Given the description of an element on the screen output the (x, y) to click on. 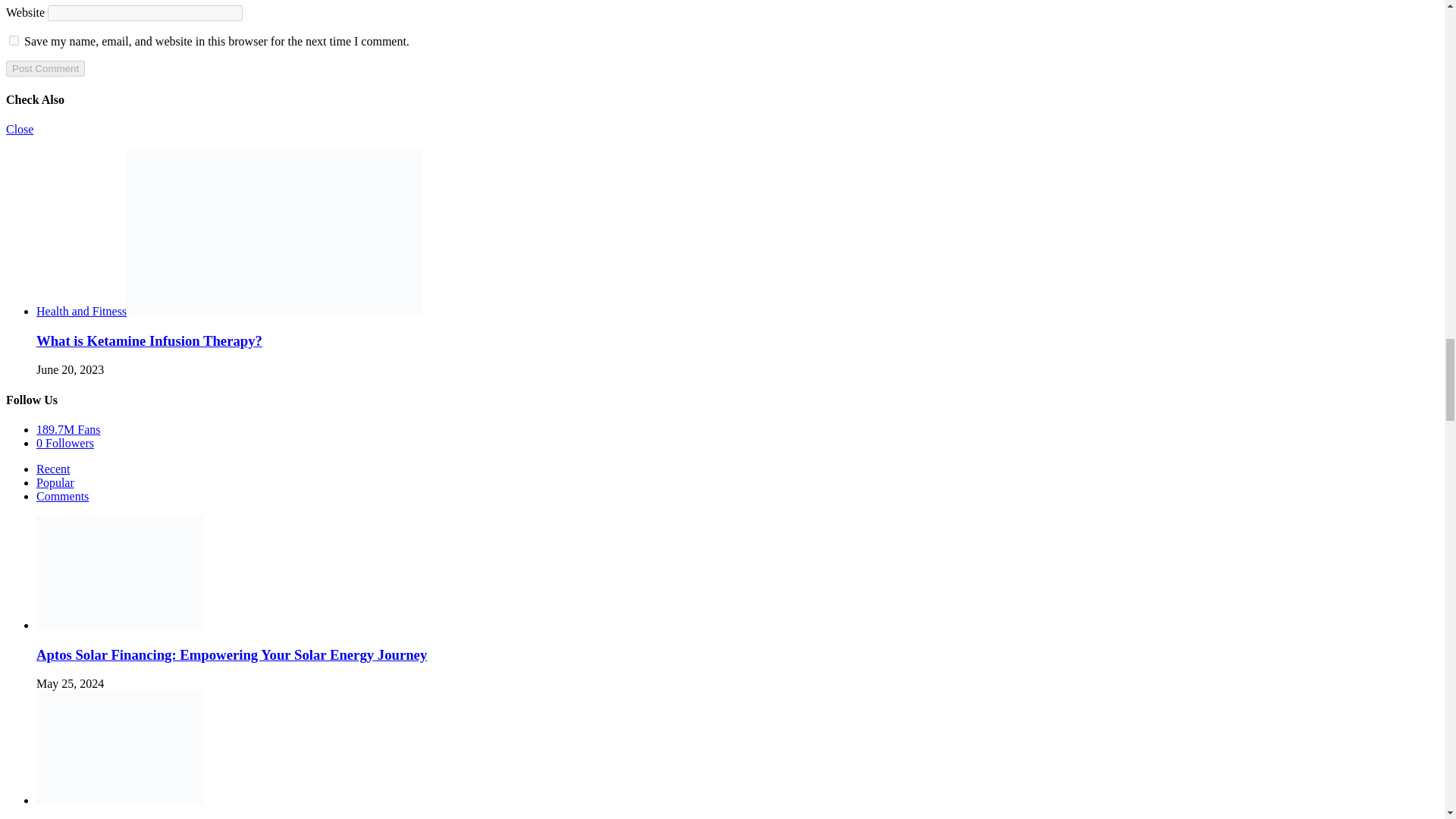
yes (13, 40)
Post Comment (44, 68)
